Given the description of an element on the screen output the (x, y) to click on. 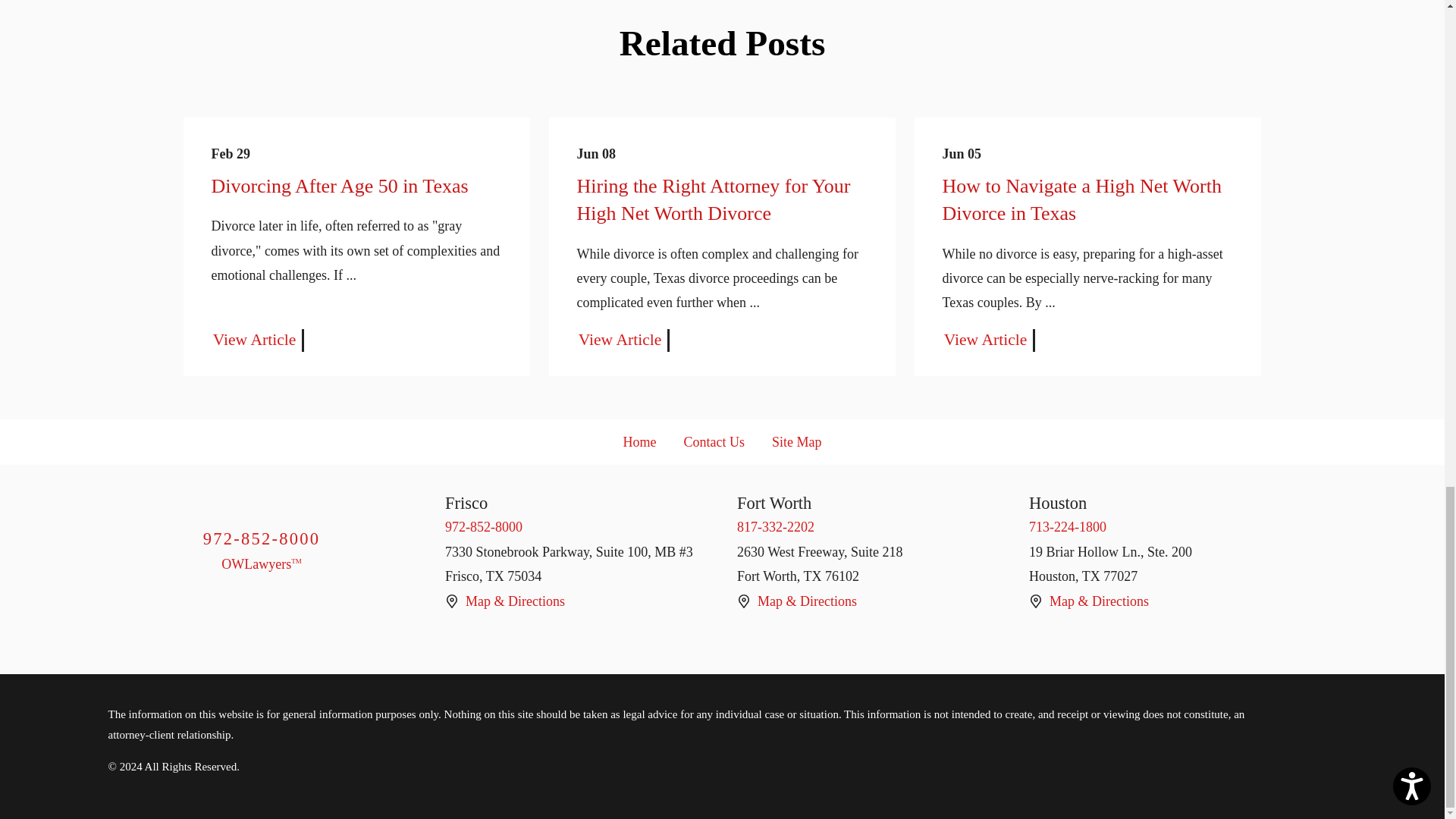
Site Icon (451, 601)
Site Icon (1035, 601)
Site Icon (743, 601)
